Given the description of an element on the screen output the (x, y) to click on. 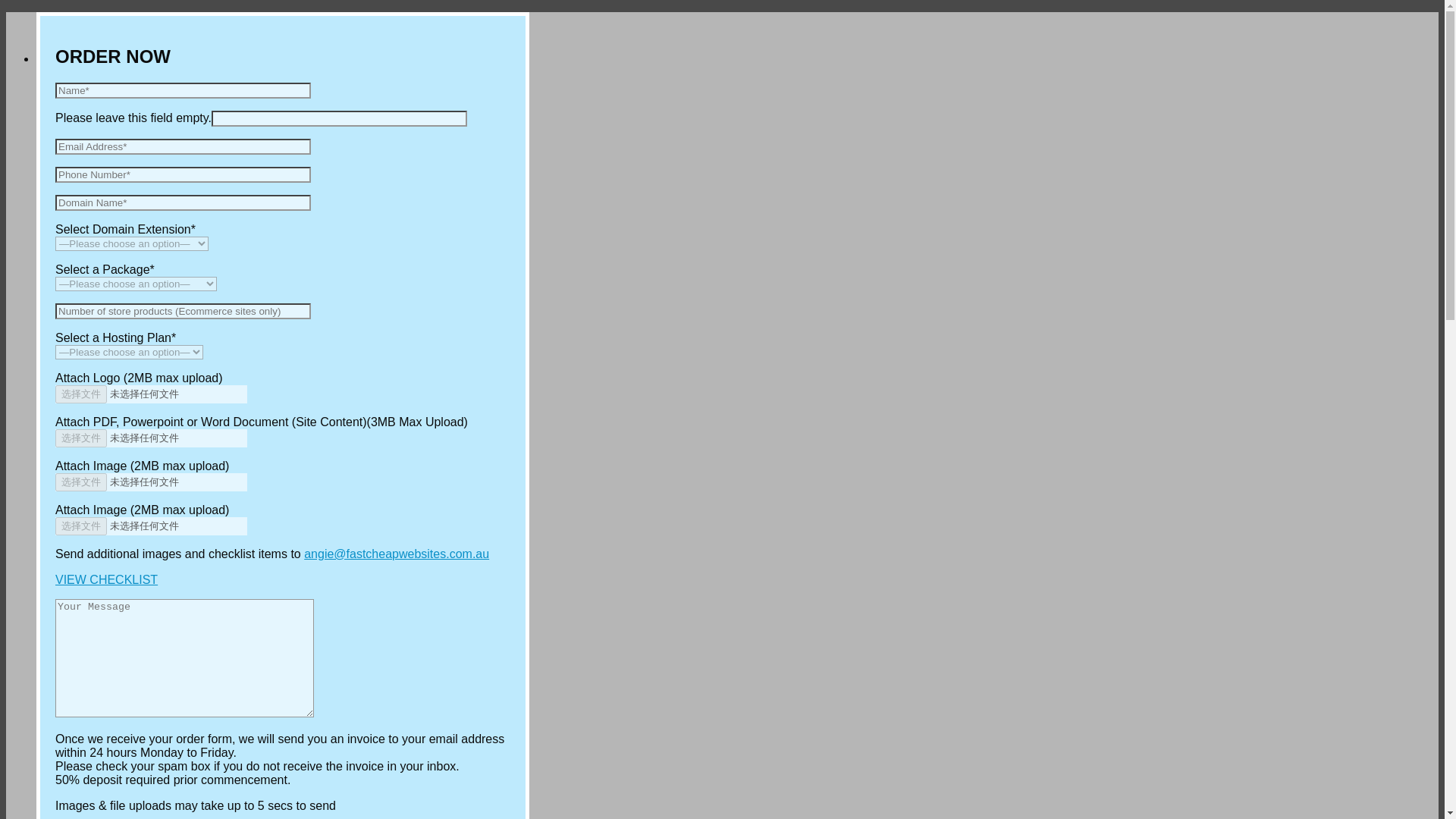
VIEW CHECKLIST (106, 579)
